Given the description of an element on the screen output the (x, y) to click on. 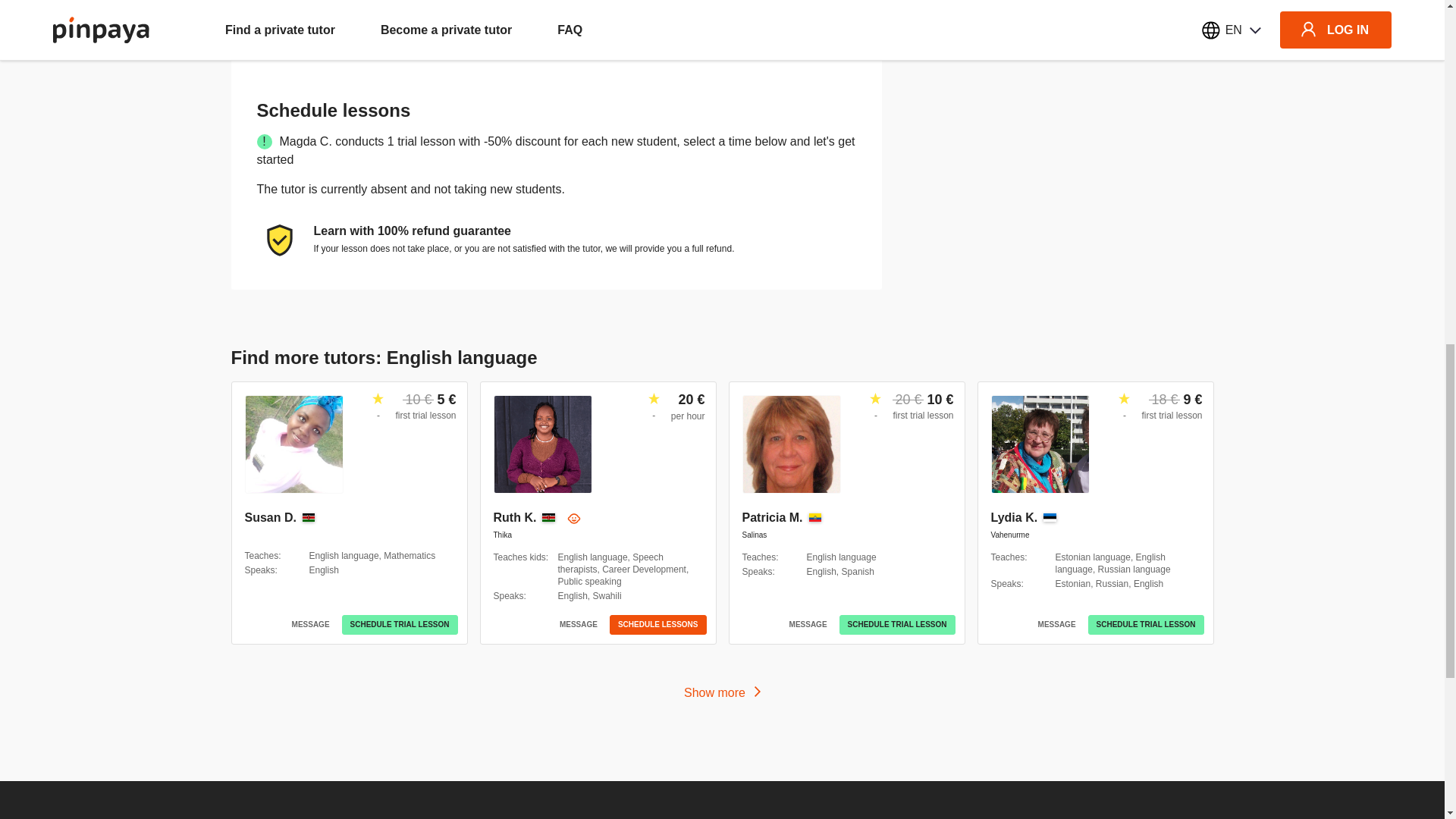
Susan D. (269, 517)
SCHEDULE TRIAL LESSON (400, 624)
MESSAGE (311, 624)
